Given the description of an element on the screen output the (x, y) to click on. 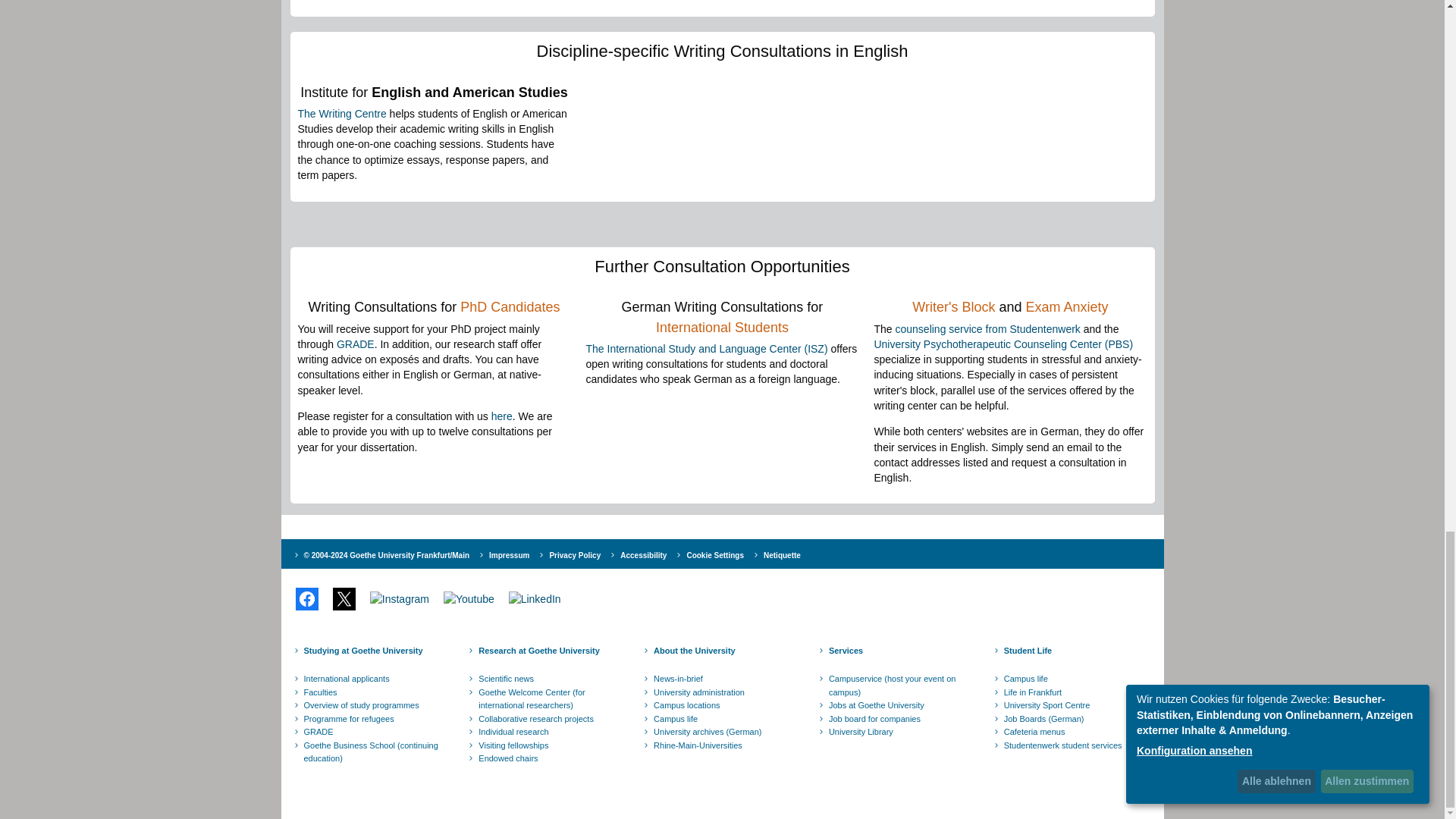
LinkedIn (534, 598)
Youtube (468, 598)
Instagram (398, 598)
